Given the description of an element on the screen output the (x, y) to click on. 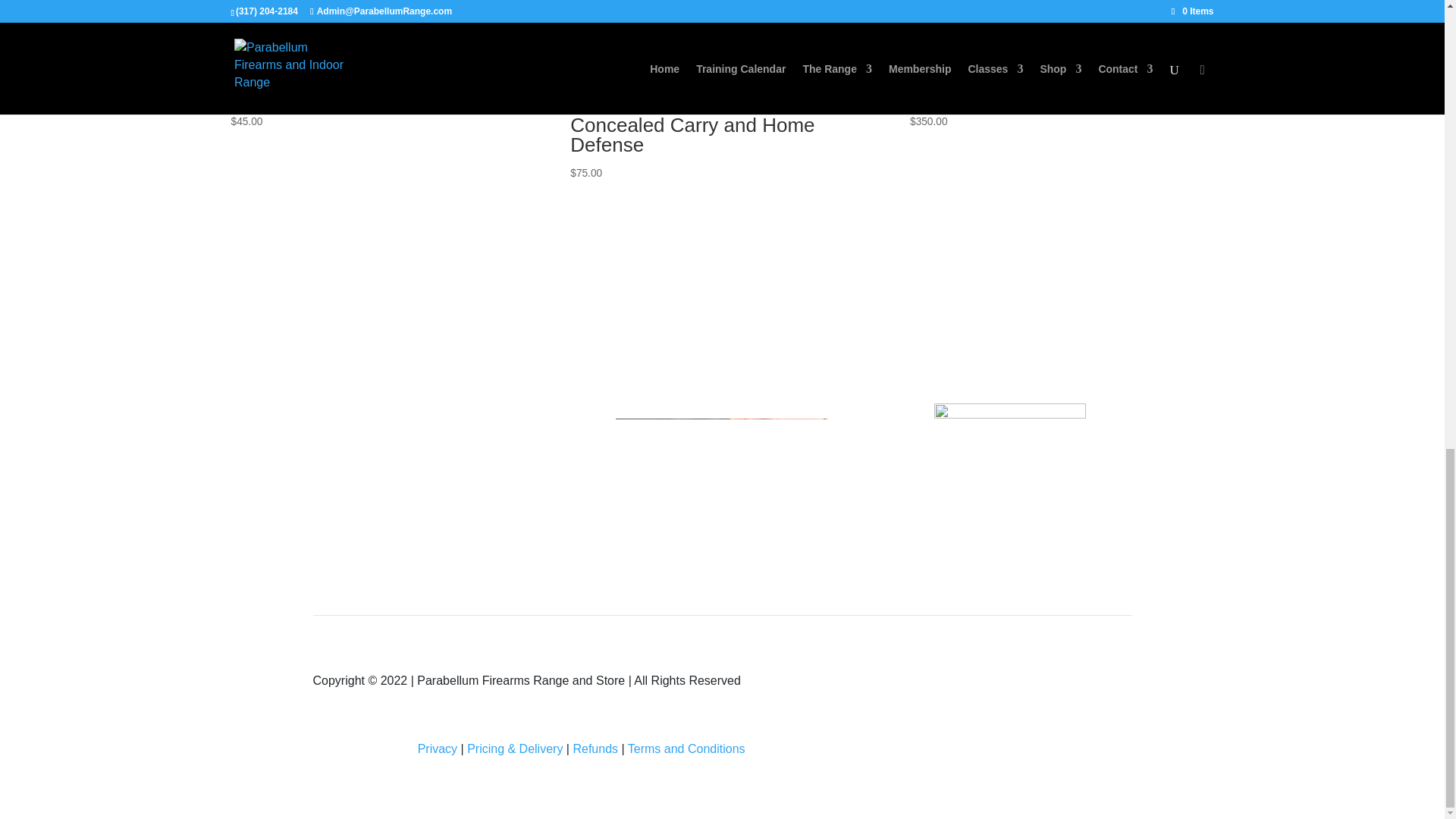
Follow on Google (1055, 685)
Follow on Instagram (1024, 685)
Follow on Facebook (964, 685)
Follow on X (994, 685)
